Given the description of an element on the screen output the (x, y) to click on. 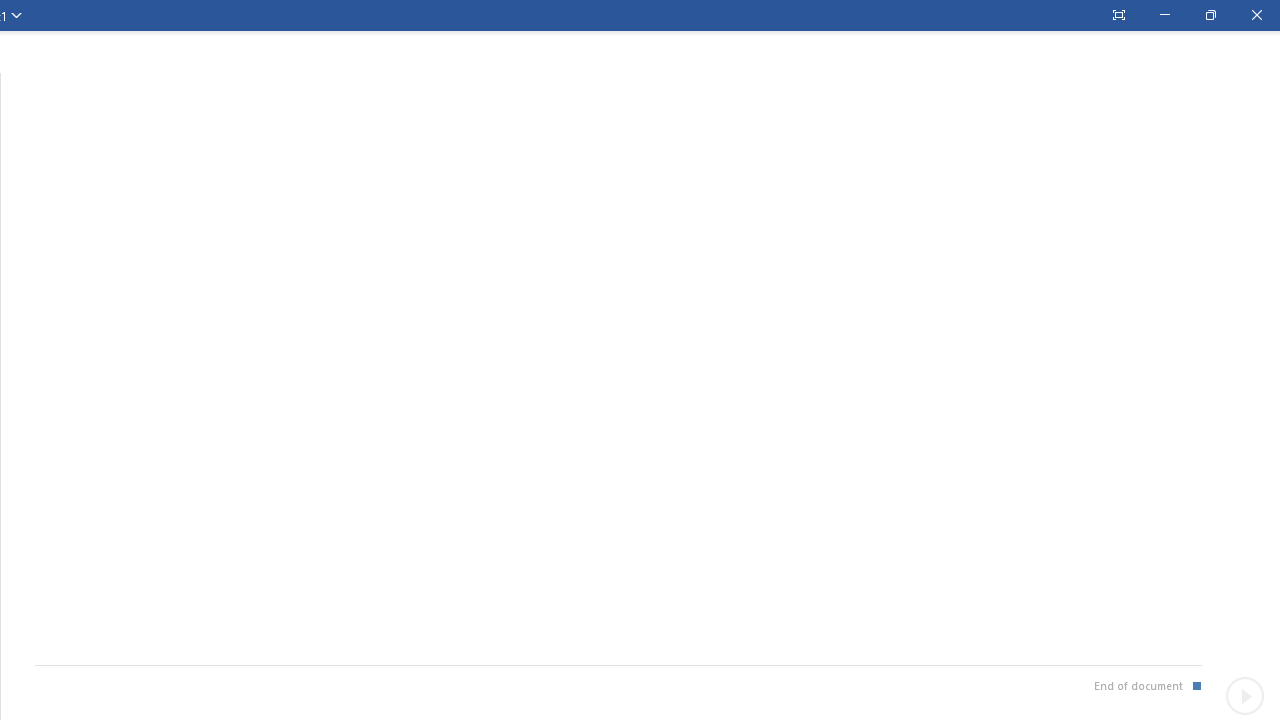
Restore Down (1210, 15)
Minimize (1164, 15)
Auto-hide Reading Toolbar (1118, 15)
